Given the description of an element on the screen output the (x, y) to click on. 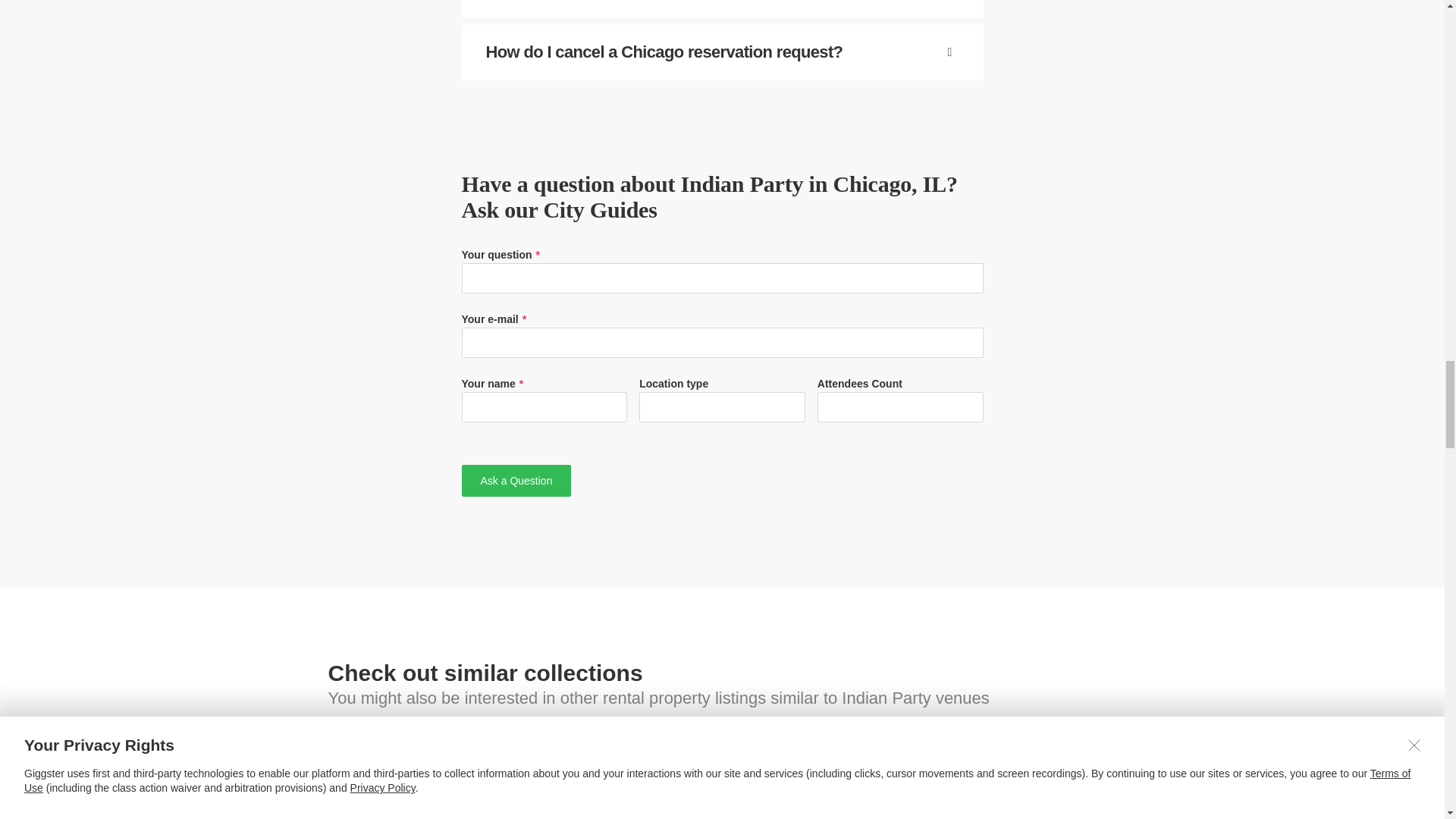
Small Party spaces in Chicago, IL (988, 776)
Party spaces in Chicago, IL (454, 776)
Private Party spaces in Chicago, IL (721, 776)
